Given the description of an element on the screen output the (x, y) to click on. 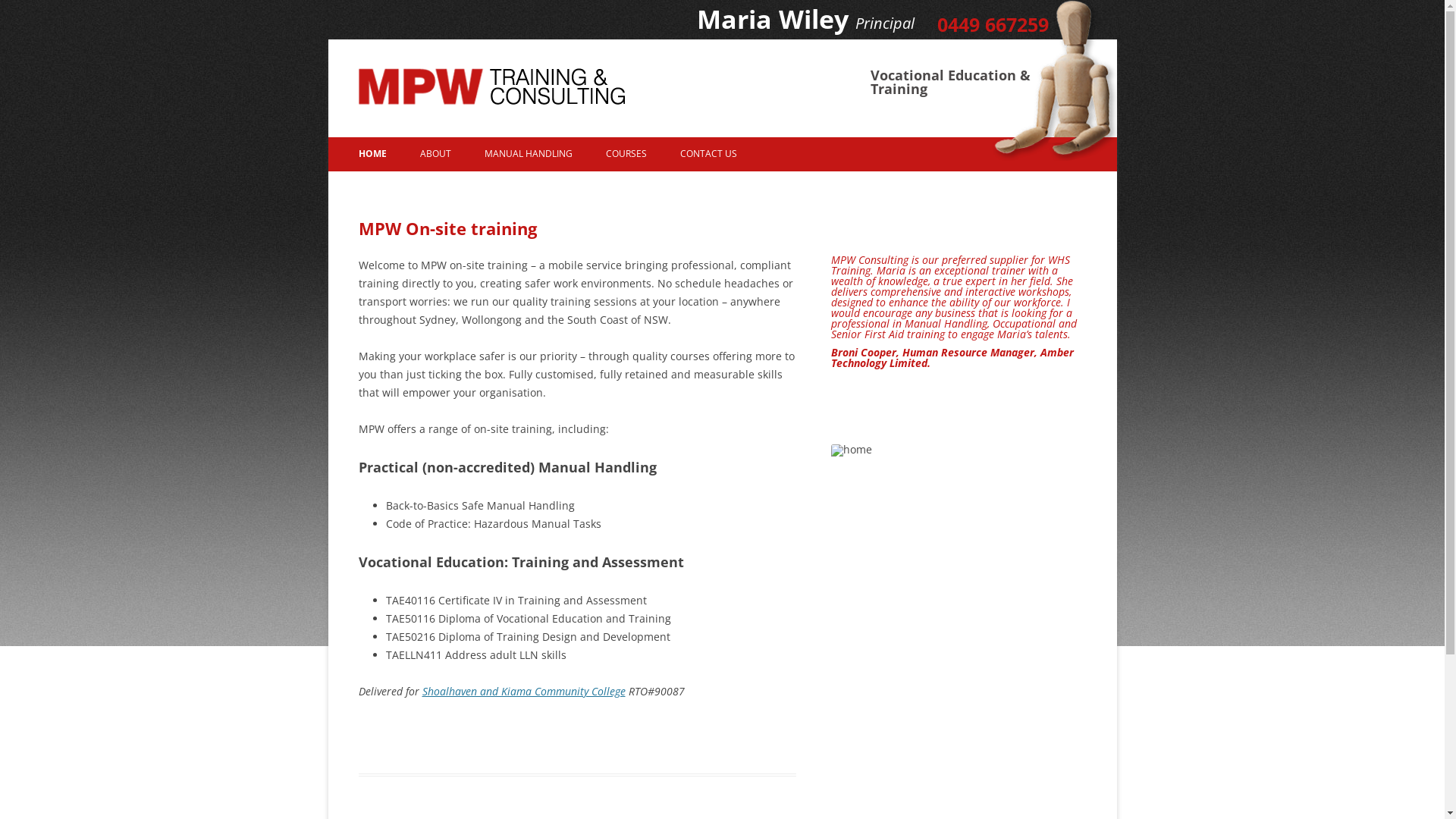
Skip to content Element type: text (744, 142)
MANUAL HANDLING Element type: text (527, 153)
MPW Consulting Element type: hover (571, 101)
COURSES Element type: text (625, 153)
CONTACT US Element type: text (707, 153)
HOME Element type: text (371, 153)
Shoalhaven and Kiama Community College Element type: text (522, 691)
ABOUT Element type: text (435, 153)
